Given the description of an element on the screen output the (x, y) to click on. 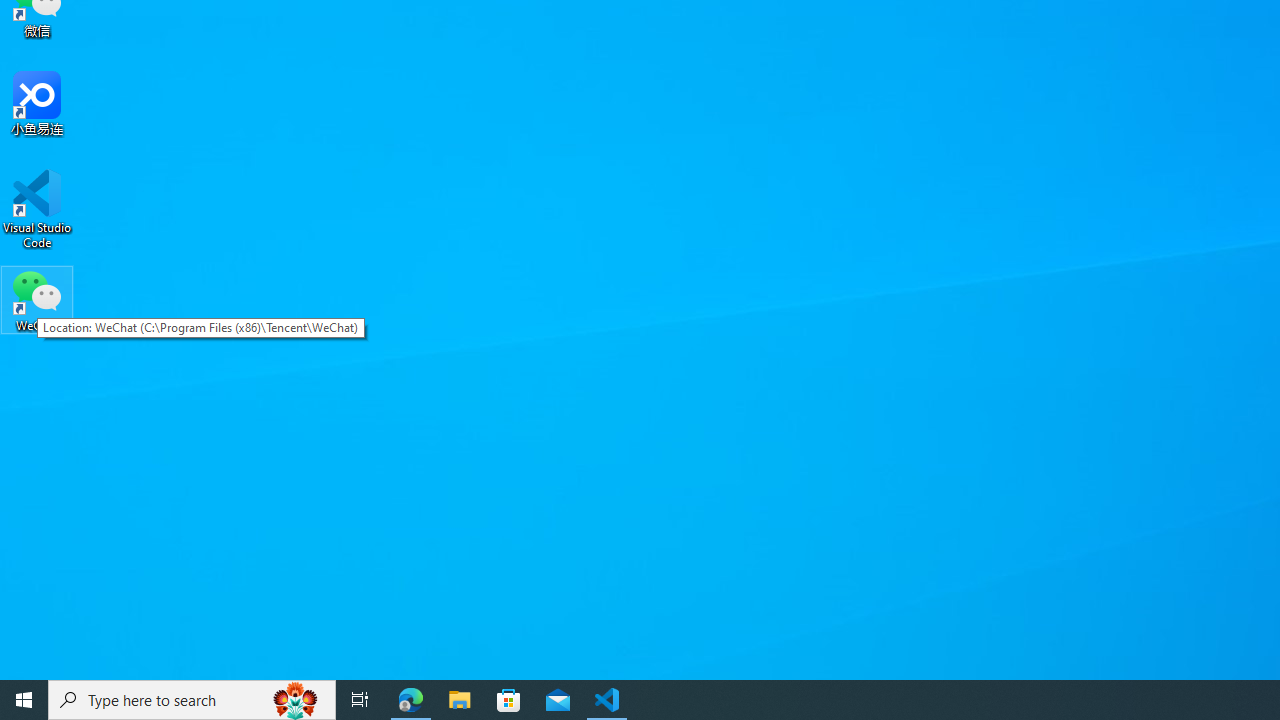
Microsoft Edge - 1 running window (411, 699)
Visual Studio Code (37, 209)
File Explorer (460, 699)
WeChat (37, 299)
Type here to search (191, 699)
Microsoft Store (509, 699)
Search highlights icon opens search home window (295, 699)
Start (24, 699)
Visual Studio Code - 1 running window (607, 699)
Task View (359, 699)
